Given the description of an element on the screen output the (x, y) to click on. 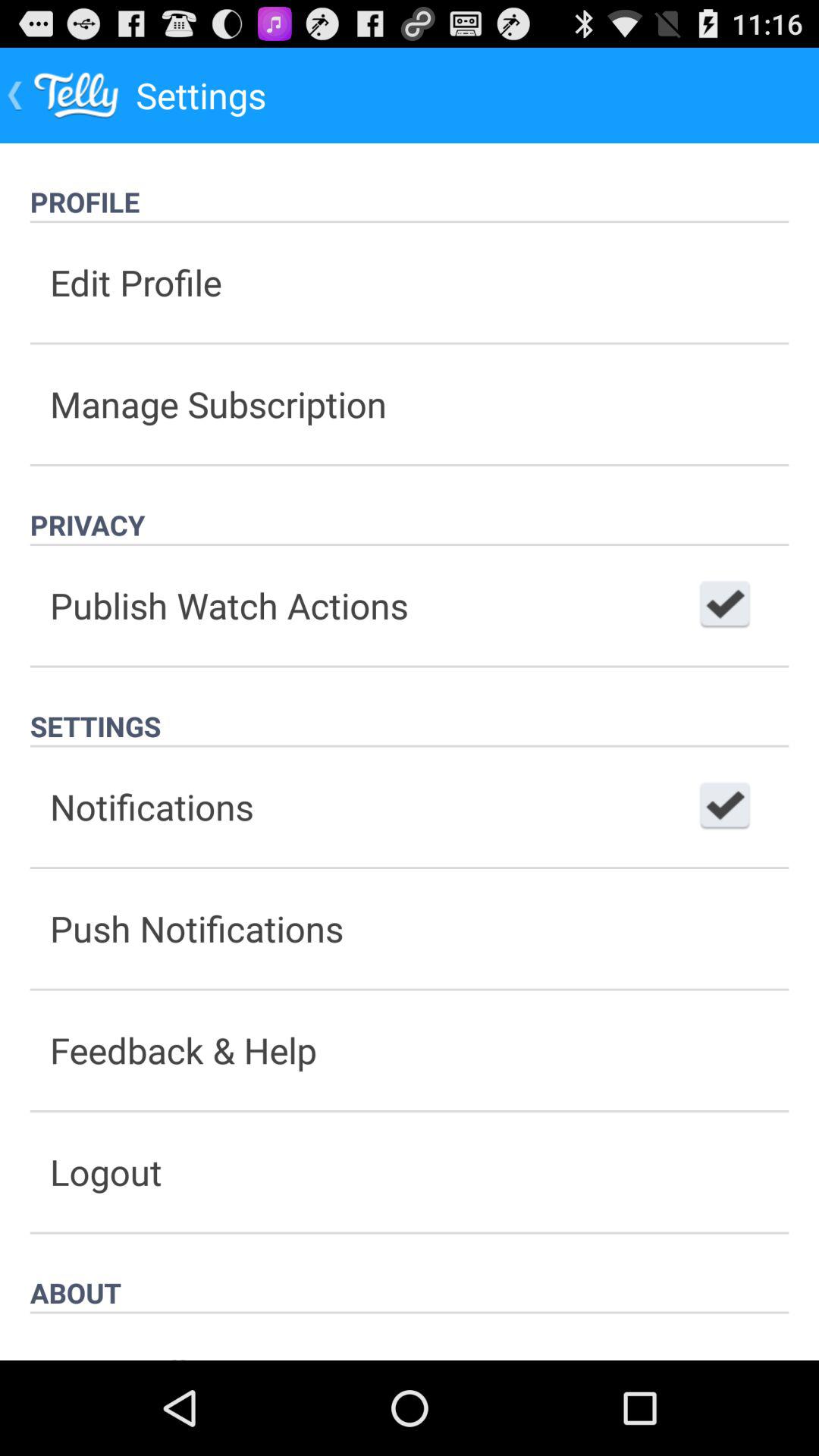
toggle on/off notifications (724, 806)
